Given the description of an element on the screen output the (x, y) to click on. 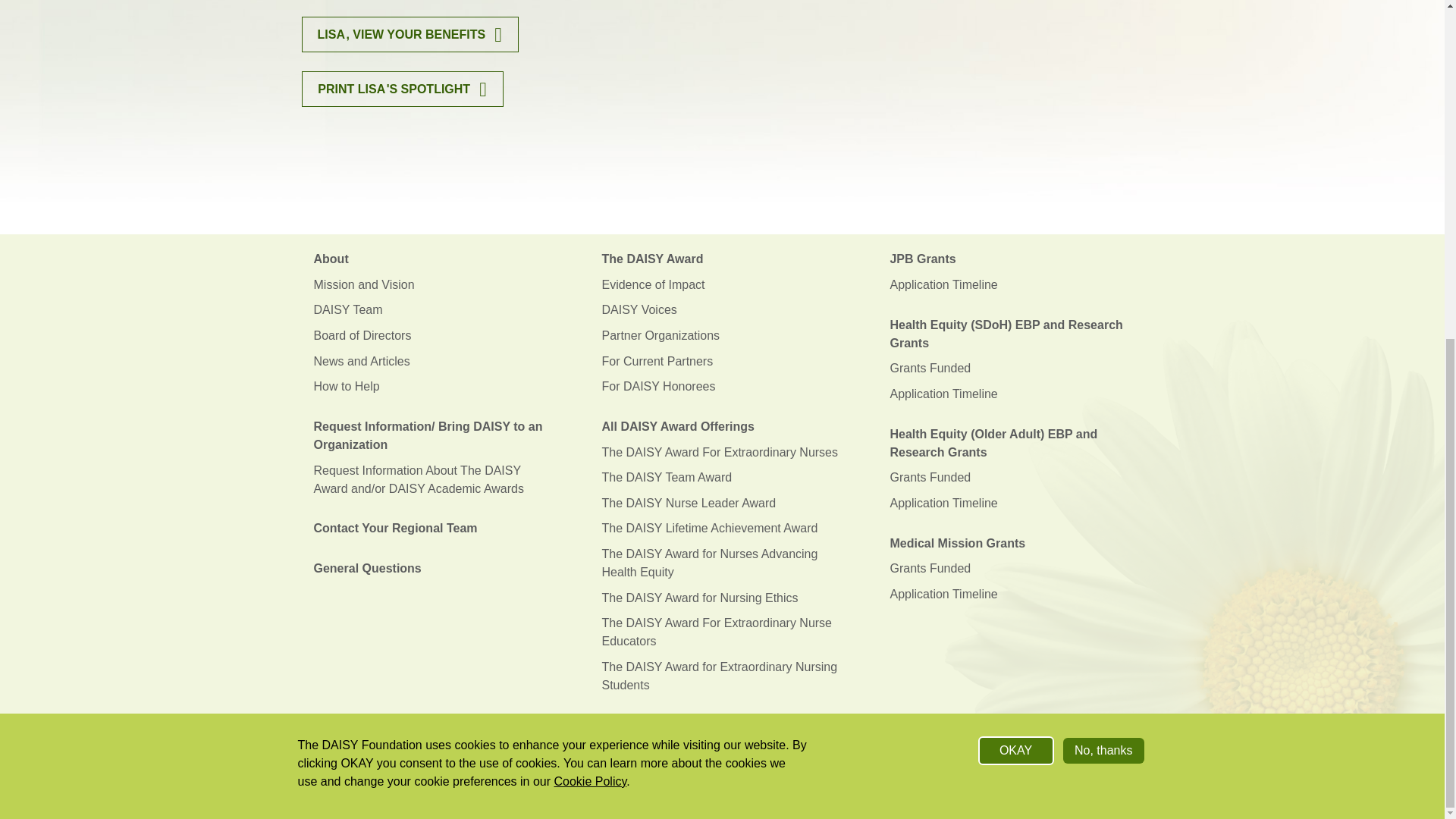
How to Help (434, 386)
Contact Your Regional Team (434, 529)
About (434, 258)
Mission and Vision (434, 284)
DAISY Team (434, 310)
PRINT LISA 'S SPOTLIGHT (402, 89)
Board of Directors (434, 335)
LISA , VIEW YOUR BENEFITS (409, 34)
News and Articles (434, 361)
